Given the description of an element on the screen output the (x, y) to click on. 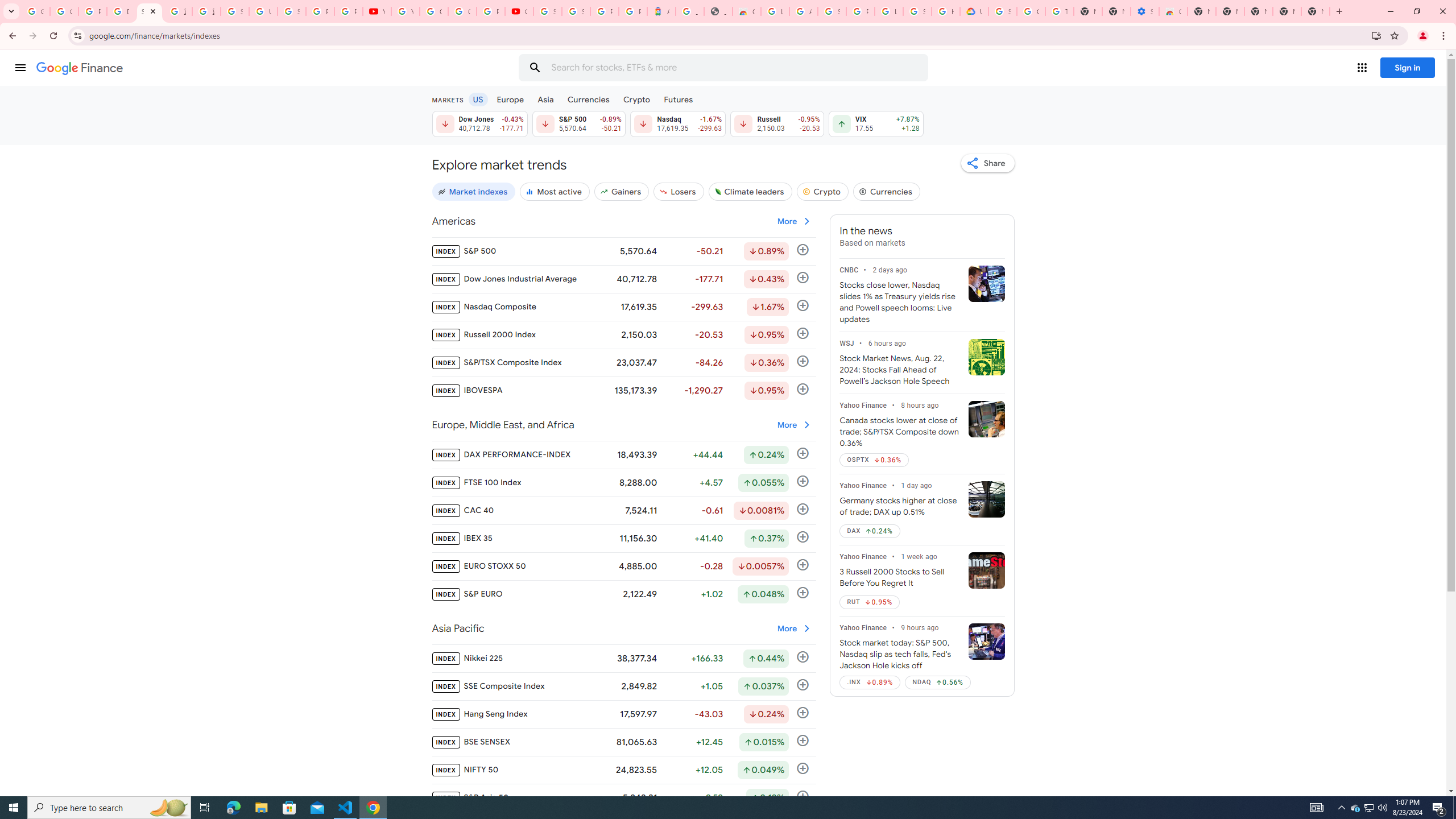
NDAQ Up by 0.56% (937, 682)
Content Creator Programs & Opportunities - YouTube Creators (518, 11)
OSPTX Down by 0.36% (874, 459)
Ad Settings (803, 11)
More (793, 628)
Currencies (886, 191)
